Given the description of an element on the screen output the (x, y) to click on. 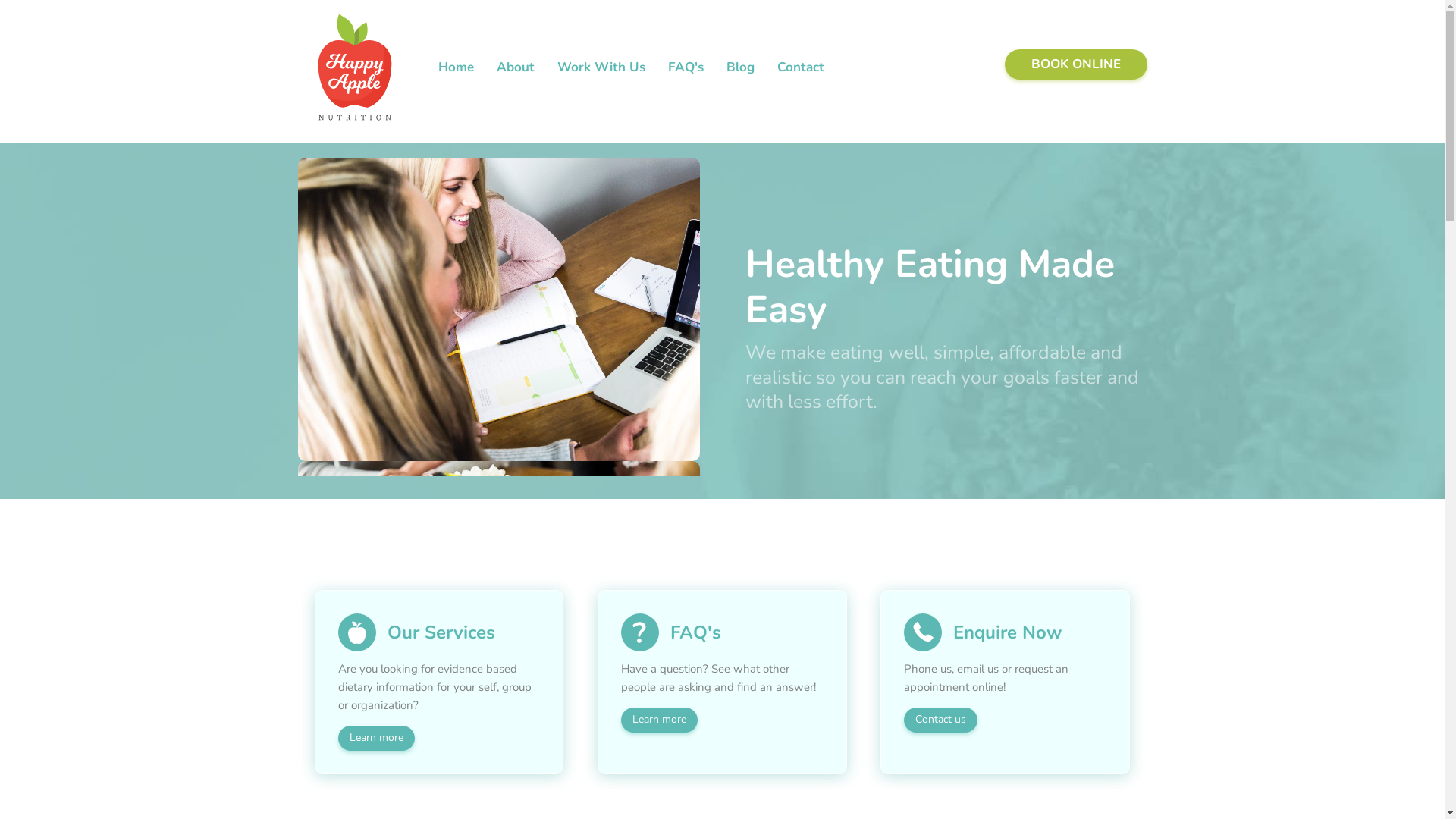
About Element type: text (515, 67)
Contact Element type: text (800, 67)
Learn more Element type: text (376, 737)
Blog Element type: text (739, 67)
Home Element type: text (455, 67)
Contact us Element type: text (940, 719)
FAQ's Element type: text (685, 67)
Learn more Element type: text (659, 719)
Work With Us Element type: text (601, 67)
BOOK ONLINE Element type: text (1075, 64)
